Given the description of an element on the screen output the (x, y) to click on. 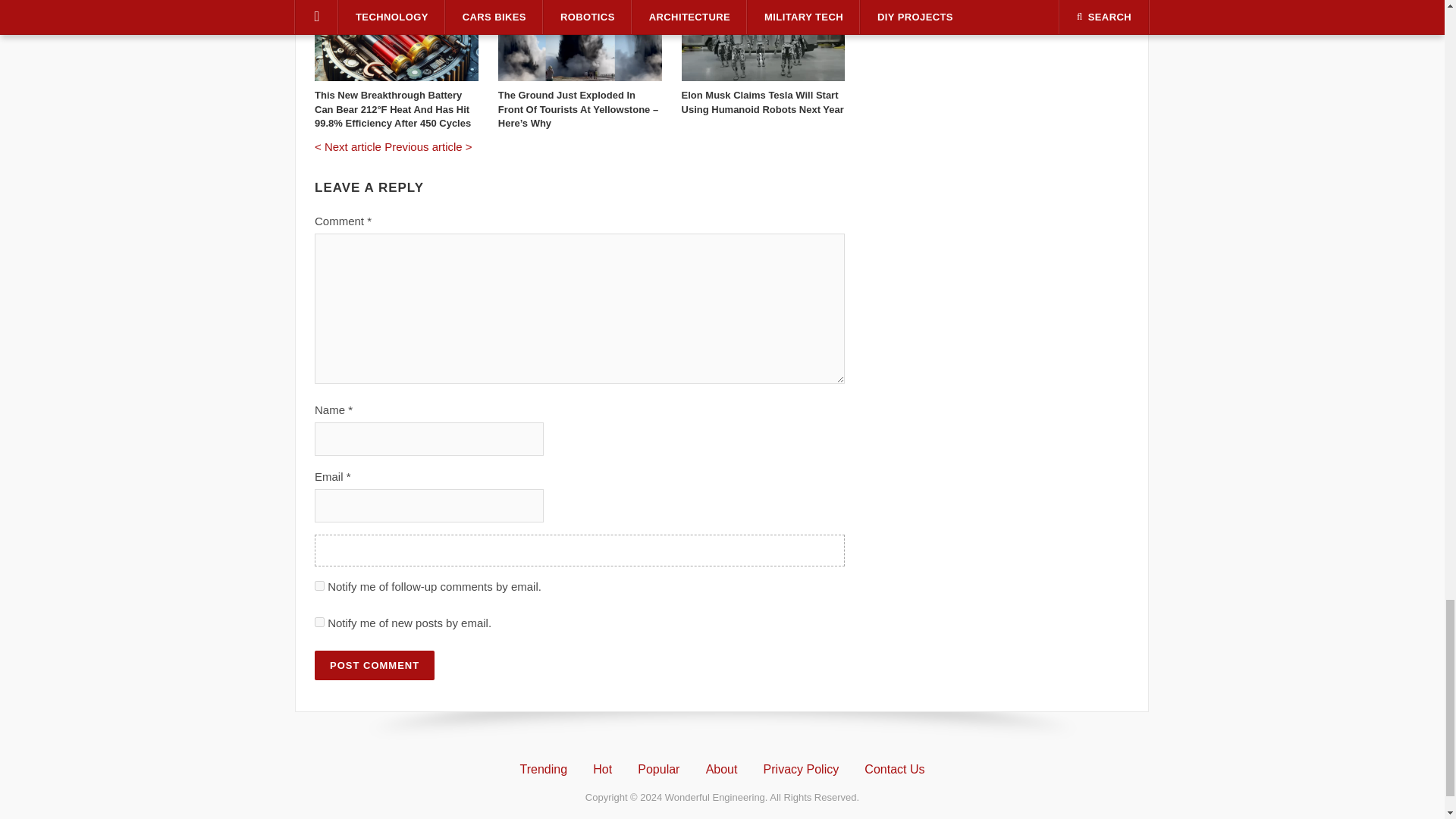
Post Comment (373, 665)
subscribe (319, 622)
subscribe (319, 585)
